Given the description of an element on the screen output the (x, y) to click on. 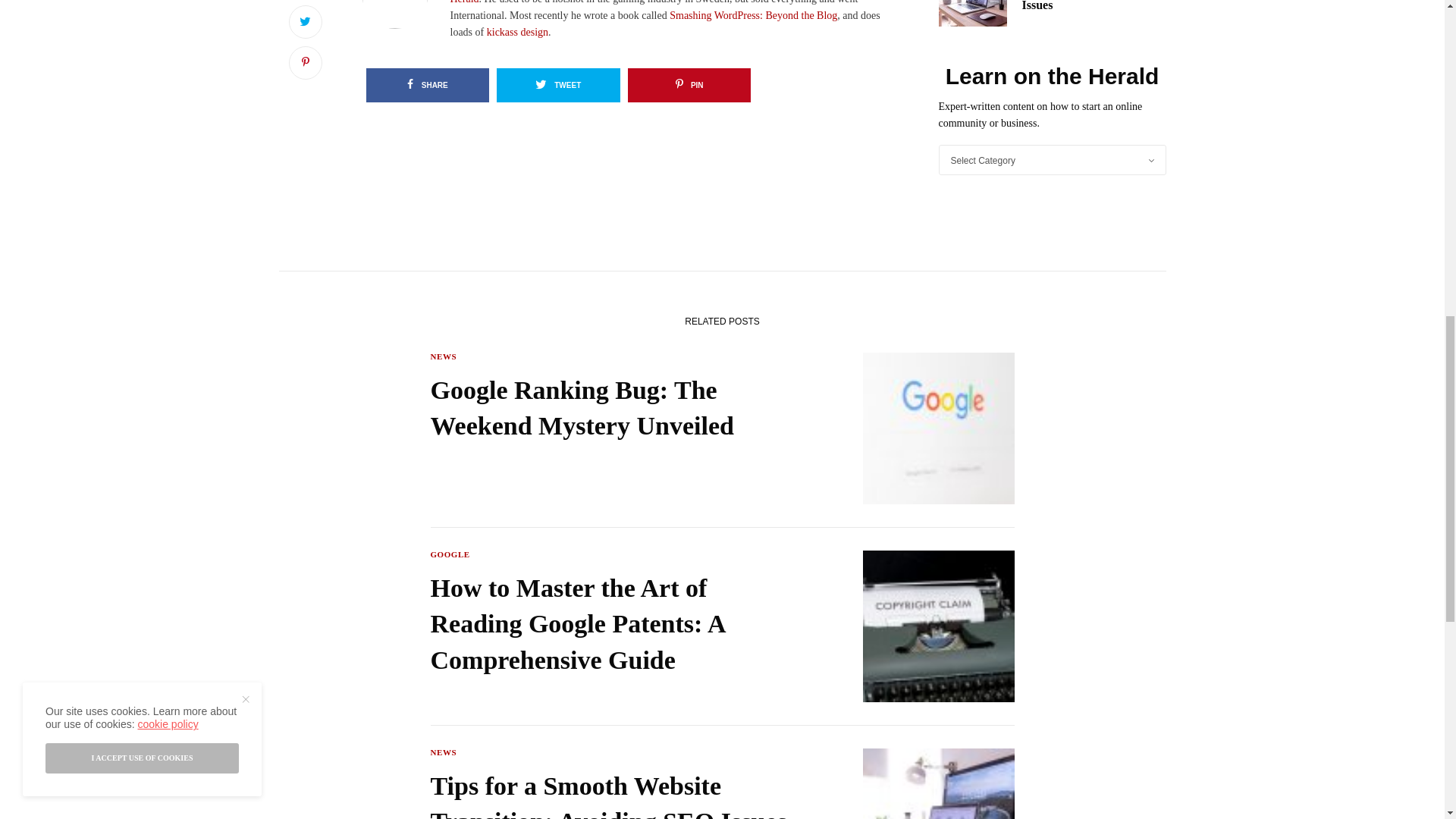
TWEET (558, 84)
Tips for a Smooth Website Transition: Avoiding SEO Issues (617, 793)
Tips for a Smooth Website Transition: Avoiding SEO Issues (1094, 6)
Google Ranking Bug: The Weekend Mystery Unveiled (617, 408)
kickass design (517, 31)
Smashing WordPress: Beyond the Blog (753, 15)
SHARE (427, 84)
